Given the description of an element on the screen output the (x, y) to click on. 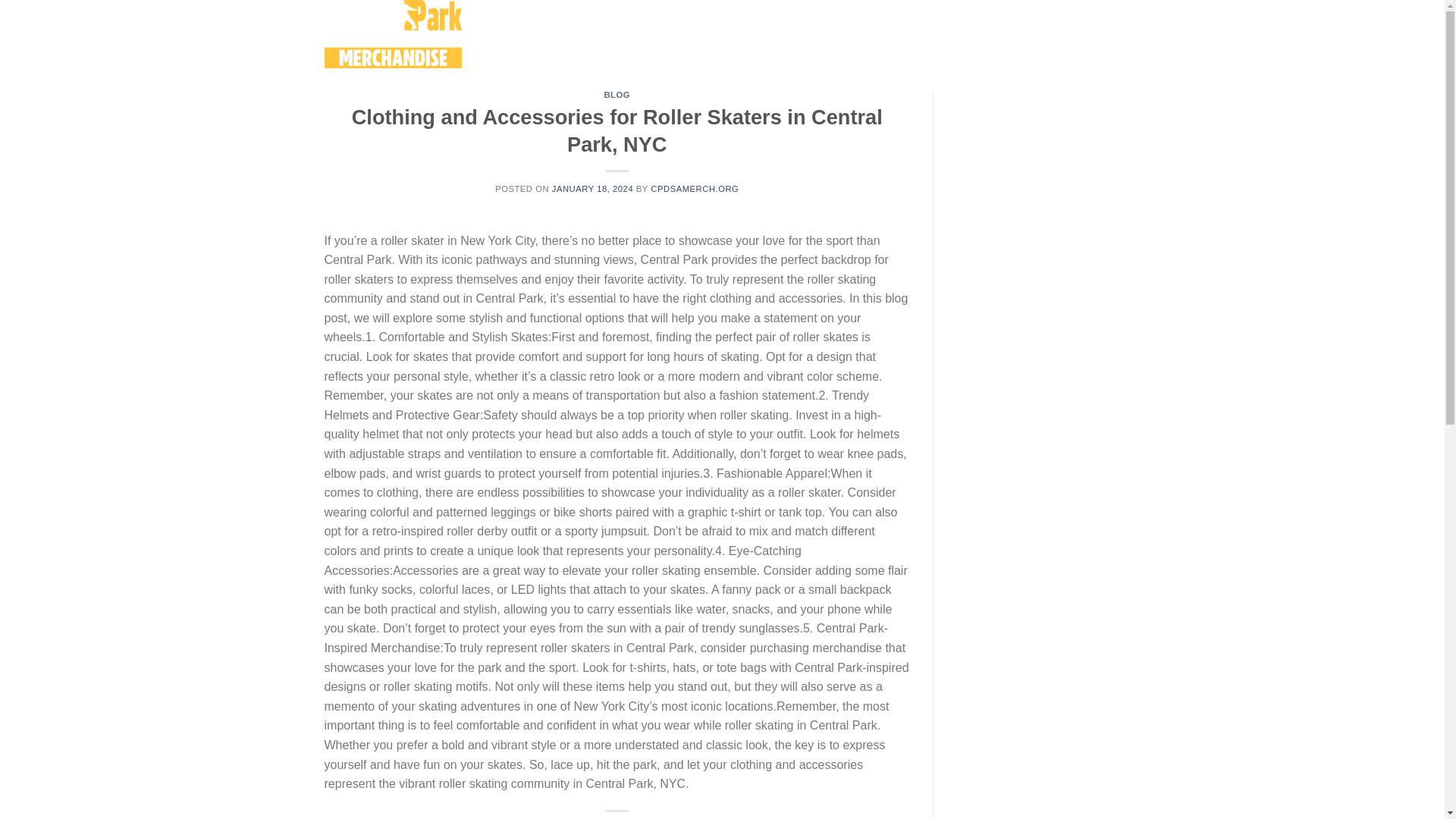
CONTACT US (951, 33)
CATEGORIES (660, 33)
ABOUT US (586, 33)
cpdsamerch.org (400, 33)
HOME (535, 33)
Cart (1074, 34)
WOMEN (726, 33)
CPDSA WEBSITE (865, 33)
